Given the description of an element on the screen output the (x, y) to click on. 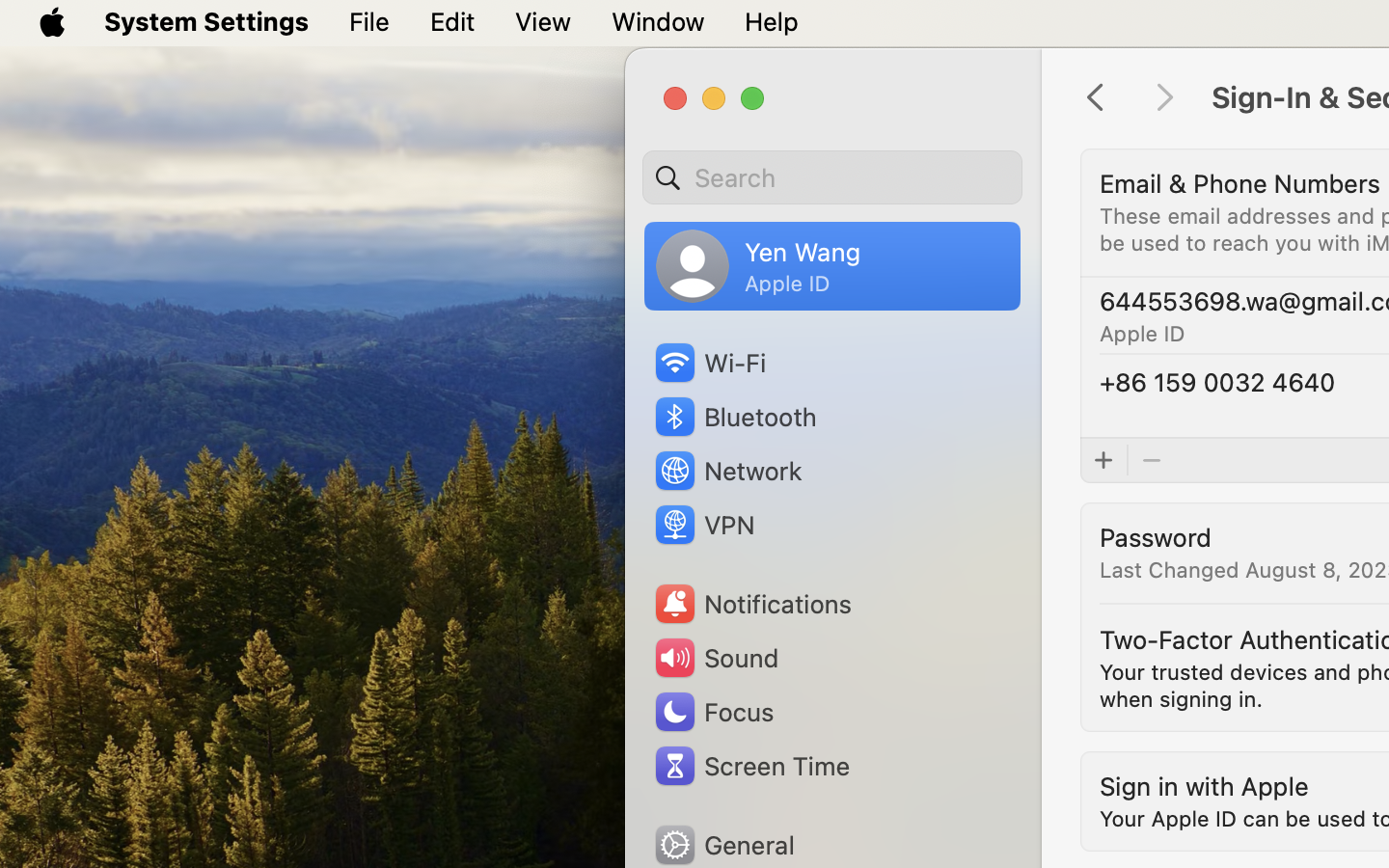
+86 159 0032 4640 Element type: AXStaticText (1216, 381)
Yen Wang, Apple ID Element type: AXStaticText (757, 265)
Apple ID Element type: AXStaticText (1141, 333)
Email & Phone Numbers Element type: AXStaticText (1240, 182)
